Given the description of an element on the screen output the (x, y) to click on. 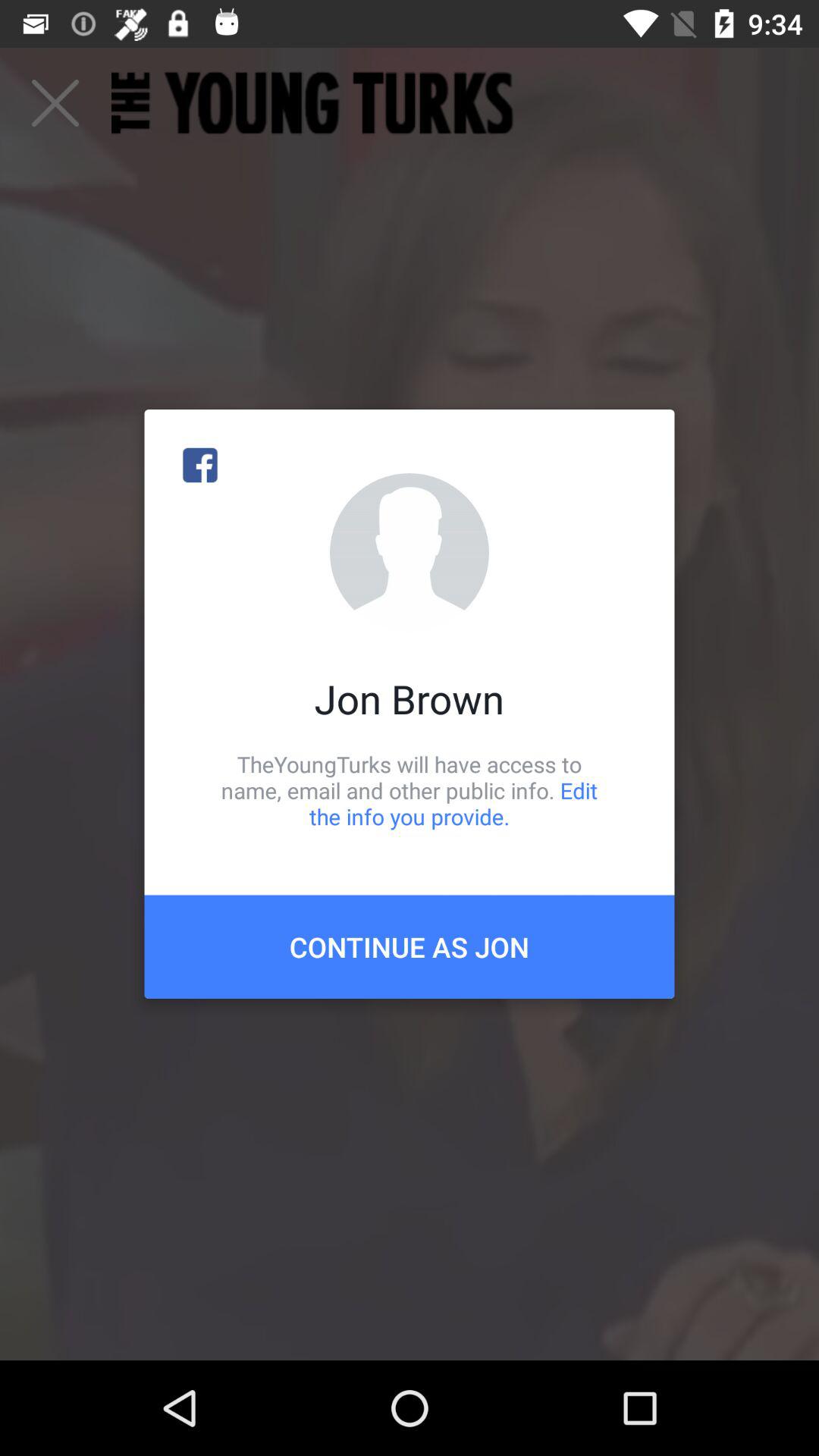
turn on the theyoungturks will have item (409, 790)
